Given the description of an element on the screen output the (x, y) to click on. 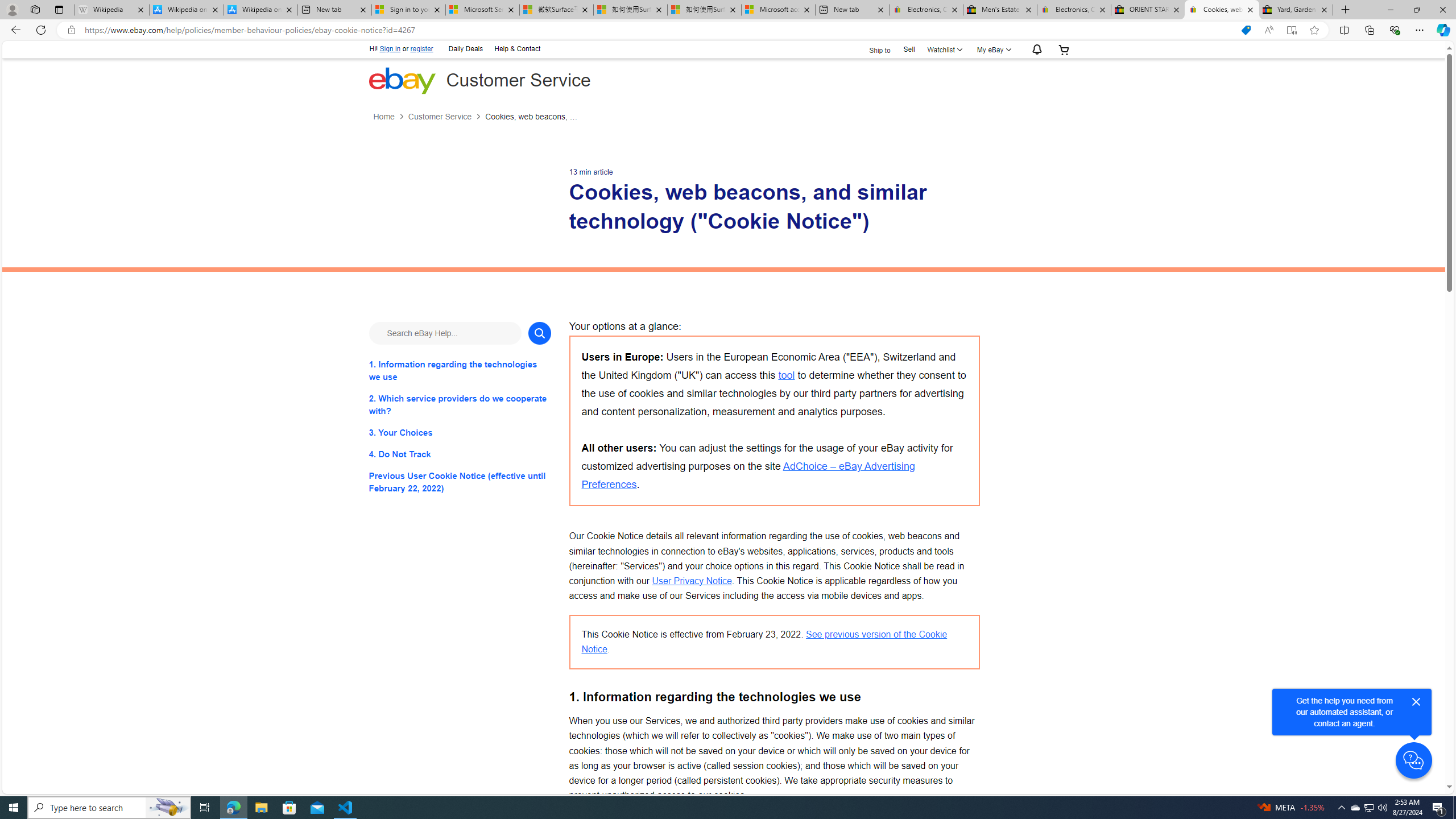
Daily Deals (465, 48)
Electronics, Cars, Fashion, Collectibles & More | eBay (1073, 9)
Help & Contact (516, 49)
Daily Deals (465, 49)
3. Your Choices (459, 431)
This site has coupons! Shopping in Microsoft Edge (1245, 29)
Customer Service (439, 117)
User Privacy Notice (692, 580)
AutomationID: gh-eb-Alerts (1035, 49)
